Given the description of an element on the screen output the (x, y) to click on. 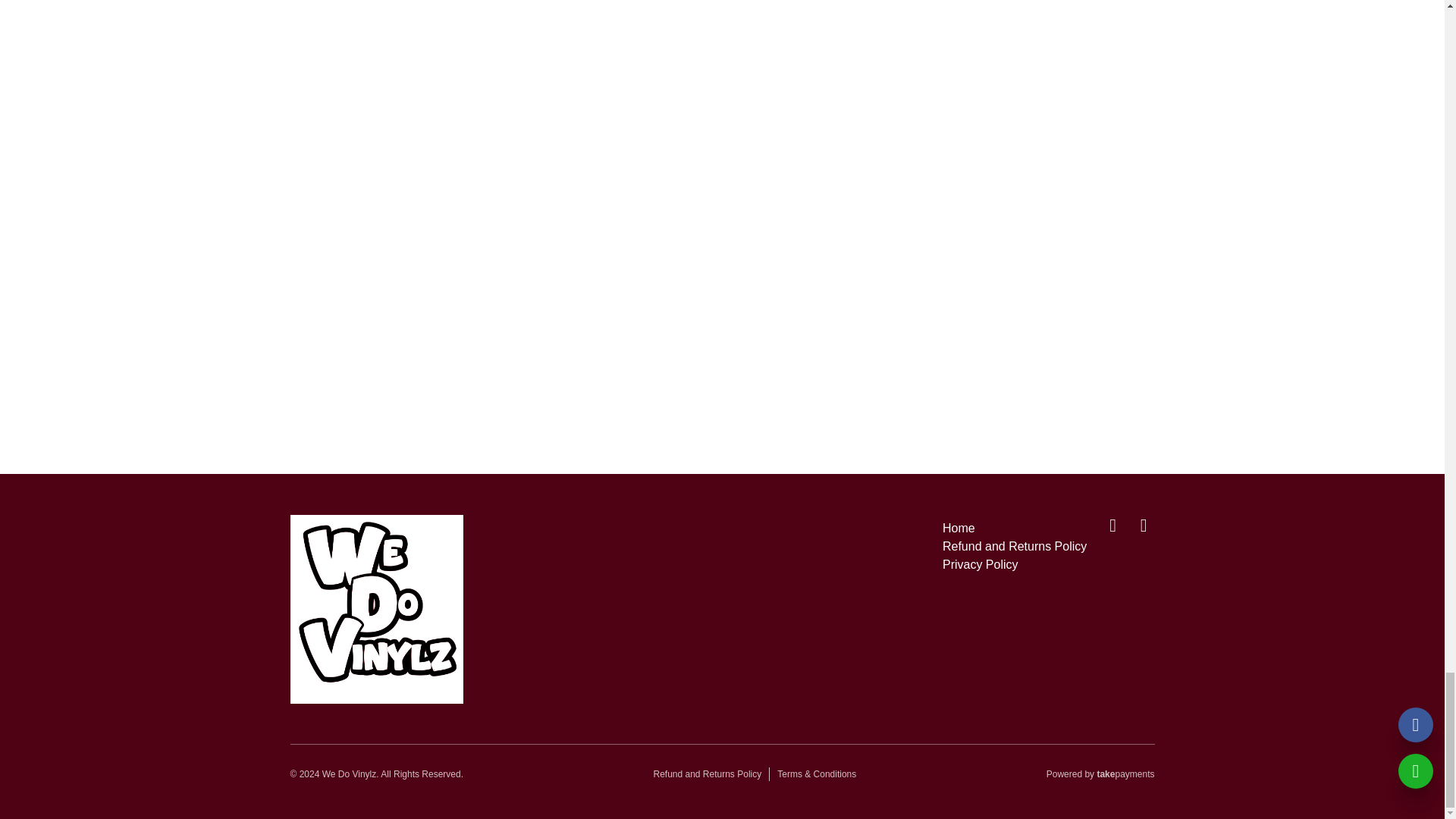
Privacy Policy (979, 563)
Submit (720, 334)
Refund and Returns Policy (706, 774)
Refund and Returns Policy (1014, 545)
Home (958, 527)
